Given the description of an element on the screen output the (x, y) to click on. 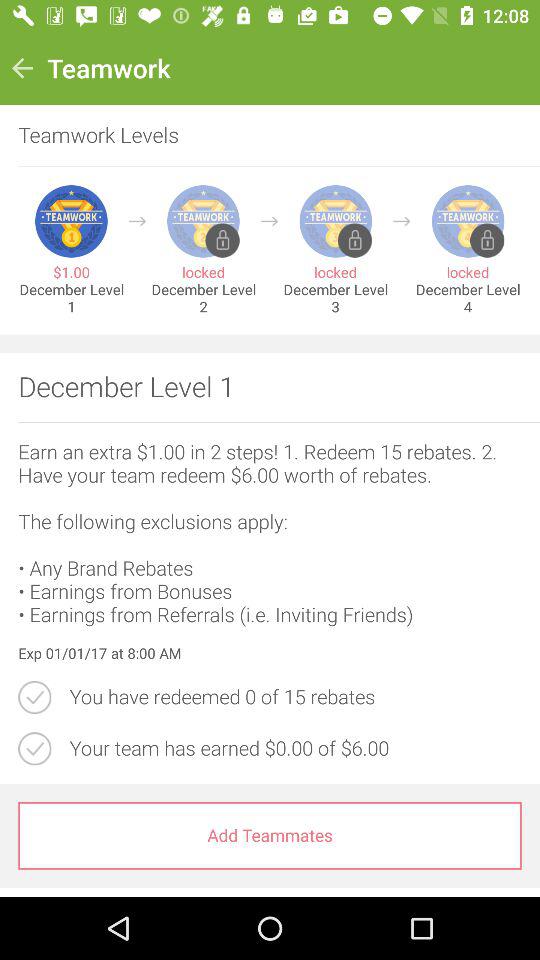
swipe to the earn an extra icon (269, 533)
